Given the description of an element on the screen output the (x, y) to click on. 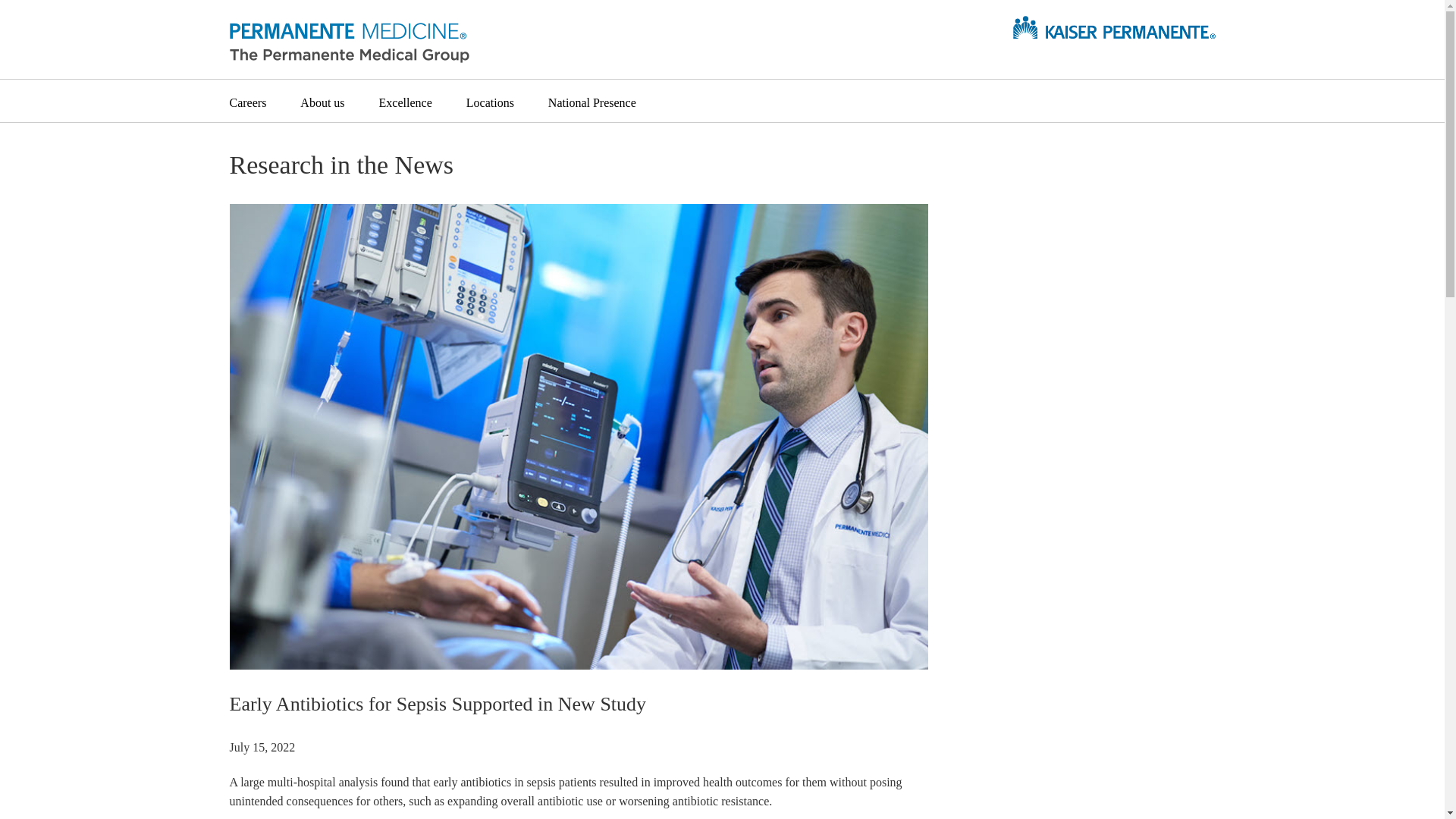
National Presence (592, 100)
About us (321, 100)
Locations (489, 100)
Excellence (405, 100)
